Given the description of an element on the screen output the (x, y) to click on. 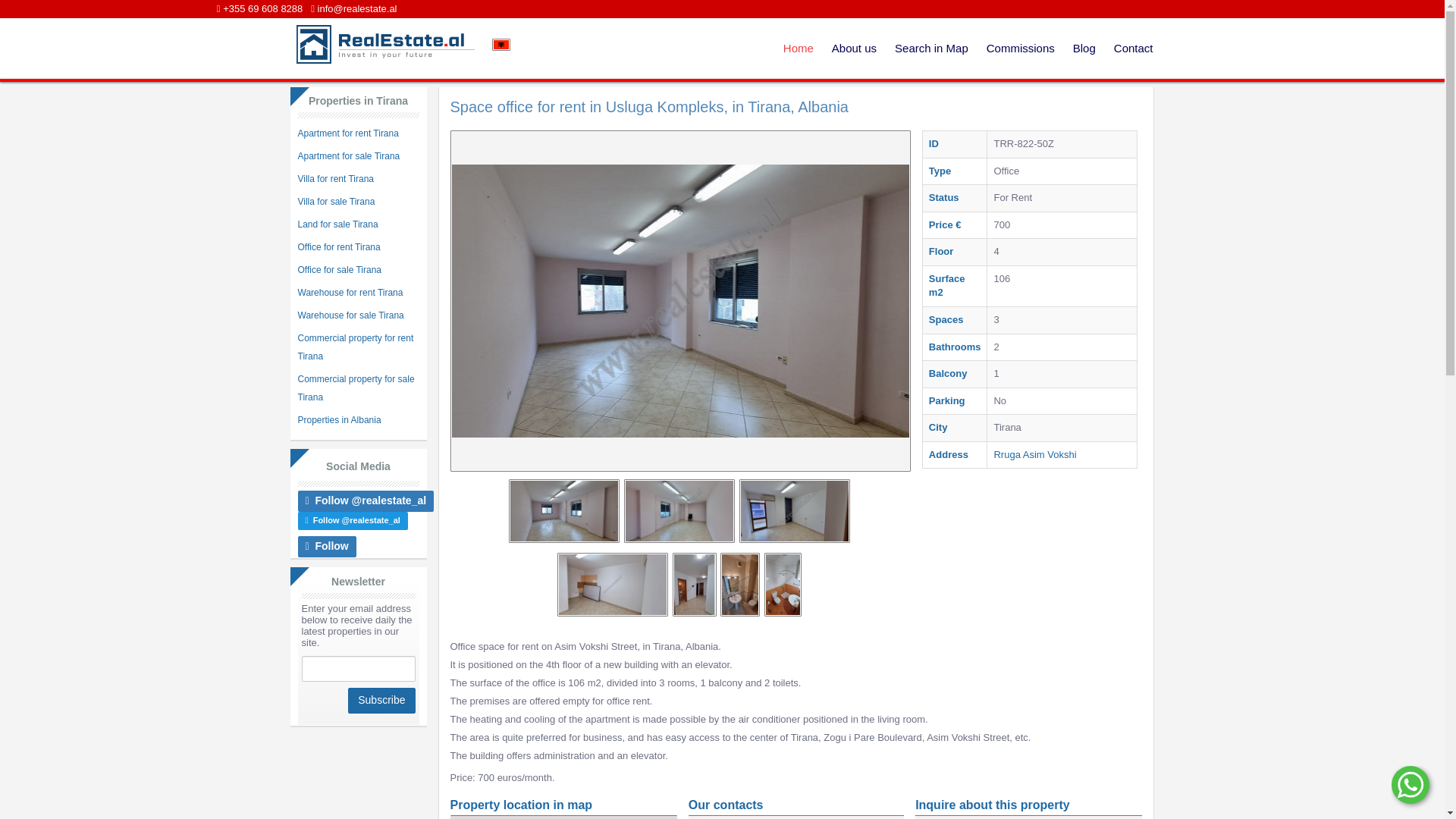
ALflag (501, 44)
Image (679, 510)
Real Estate Albania Logo (383, 44)
Commissions (1020, 48)
Rruga Asim Vokshi (1033, 454)
Subscribe (380, 700)
Search in Map (930, 48)
Image (564, 510)
Image (612, 584)
